Given the description of an element on the screen output the (x, y) to click on. 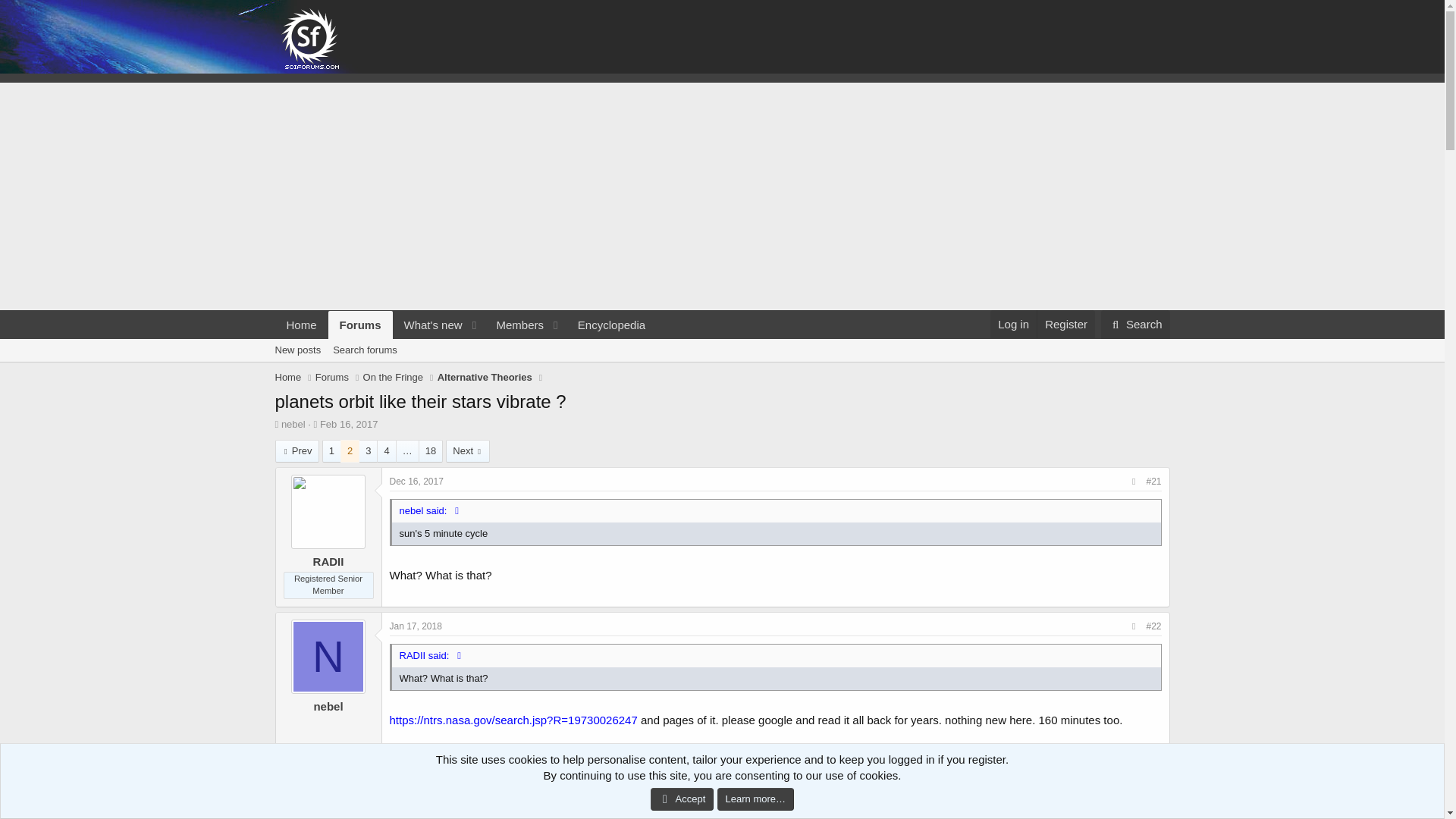
Feb 16, 2017 at 9:28 AM (349, 423)
Forums (361, 325)
Log in (1013, 324)
Dec 16, 2017 at 12:42 AM (417, 480)
Register (1065, 324)
Alternative Theories (720, 367)
Jan 17, 2018 at 1:55 AM (485, 377)
On the Fringe (464, 342)
